Given the description of an element on the screen output the (x, y) to click on. 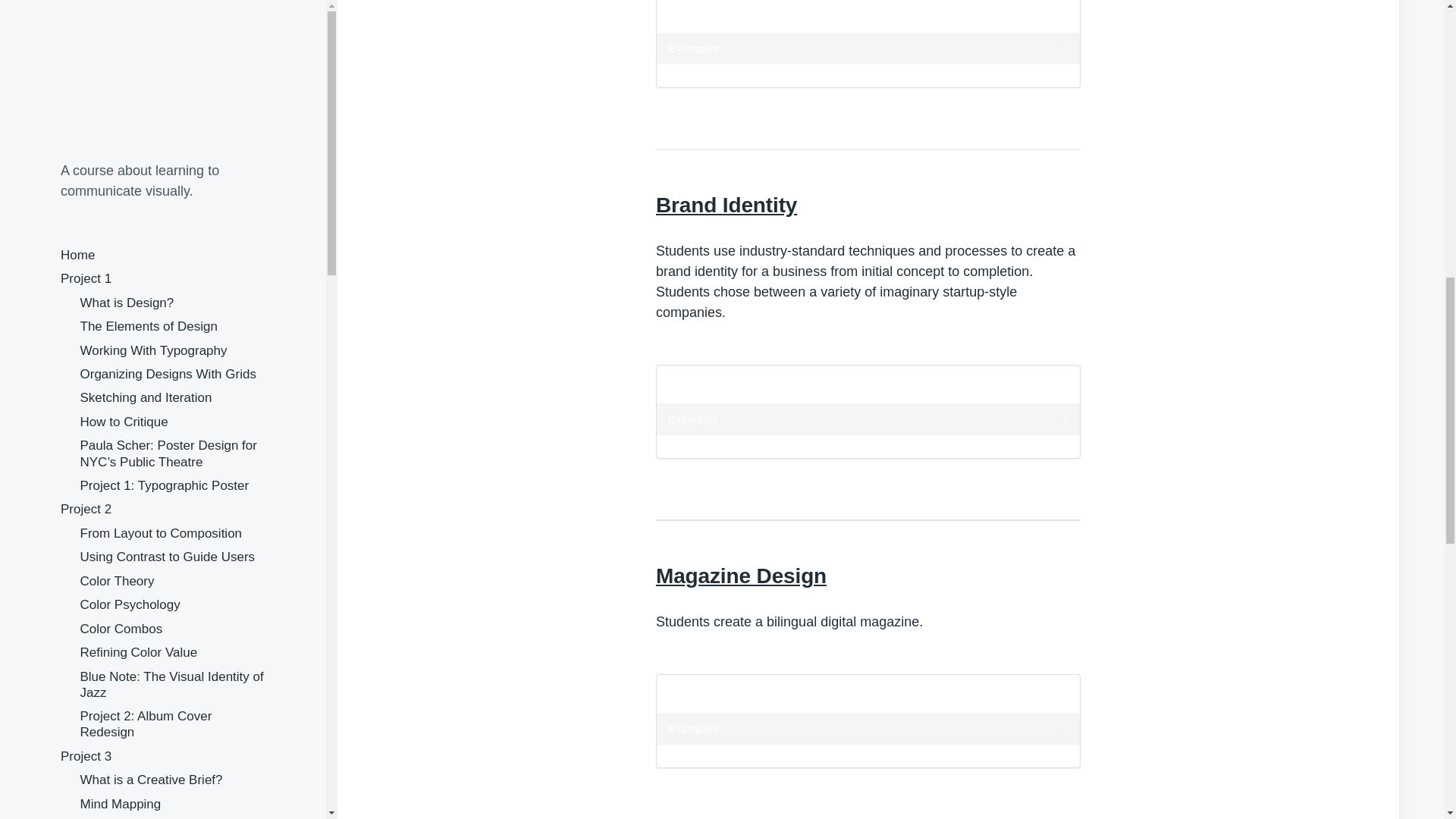
Project 3: Editorial Illustration (163, 112)
Designing Logotypes (140, 183)
Project 4: Brand Identity Design (171, 231)
Digital Magazine Publishing (159, 278)
Designing Brand Symbols (154, 207)
Mood Boards and Stylescapes (168, 8)
Case Studies: Show Your Process (152, 40)
Project 4 (86, 135)
Alternative Story Forms (147, 350)
